Given the description of an element on the screen output the (x, y) to click on. 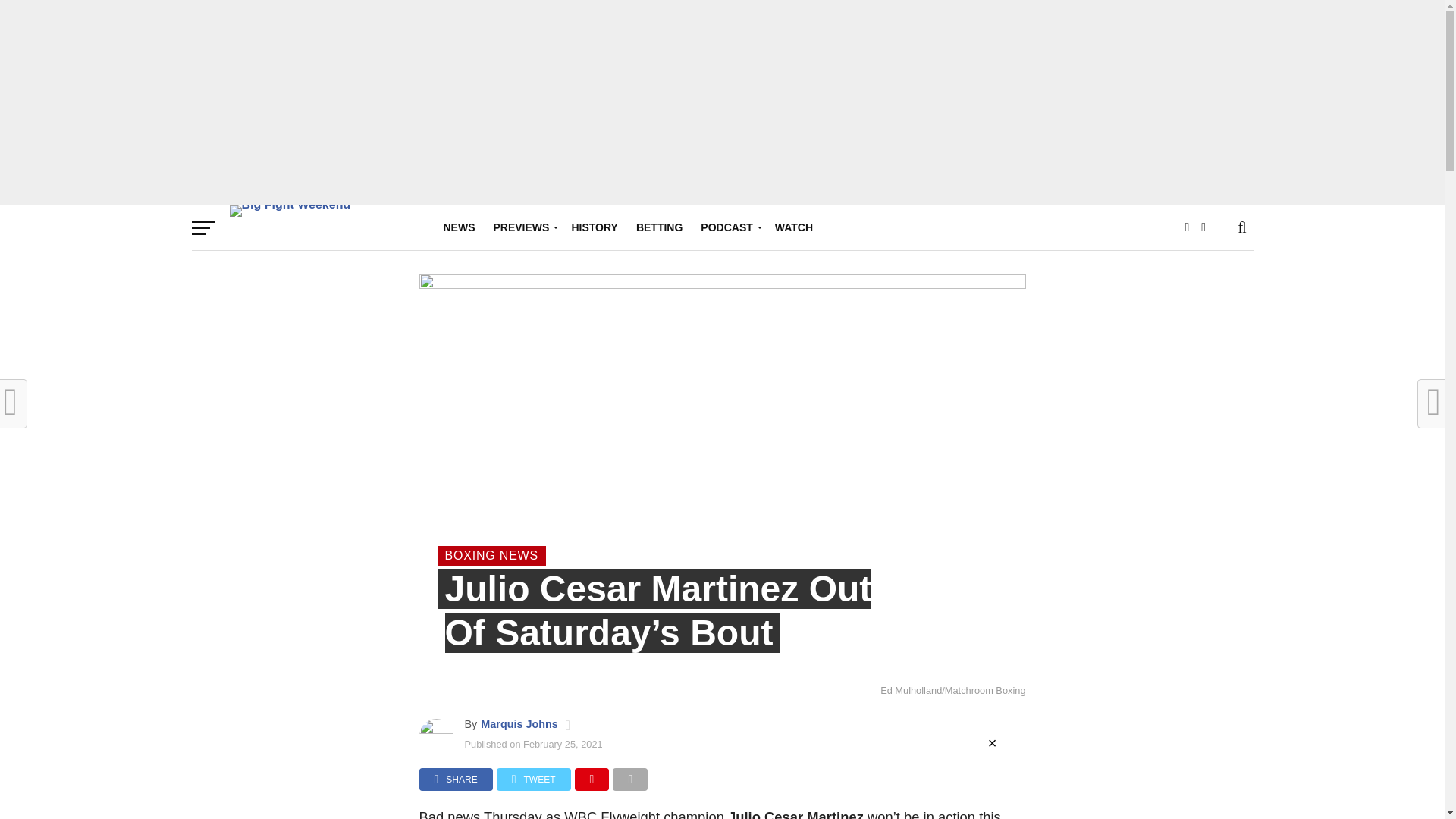
BETTING (659, 227)
Marquis Johns (518, 724)
PODCAST (728, 227)
Posts by Marquis Johns (518, 724)
HISTORY (594, 227)
NEWS (458, 227)
WATCH (793, 227)
PREVIEWS (522, 227)
